Given the description of an element on the screen output the (x, y) to click on. 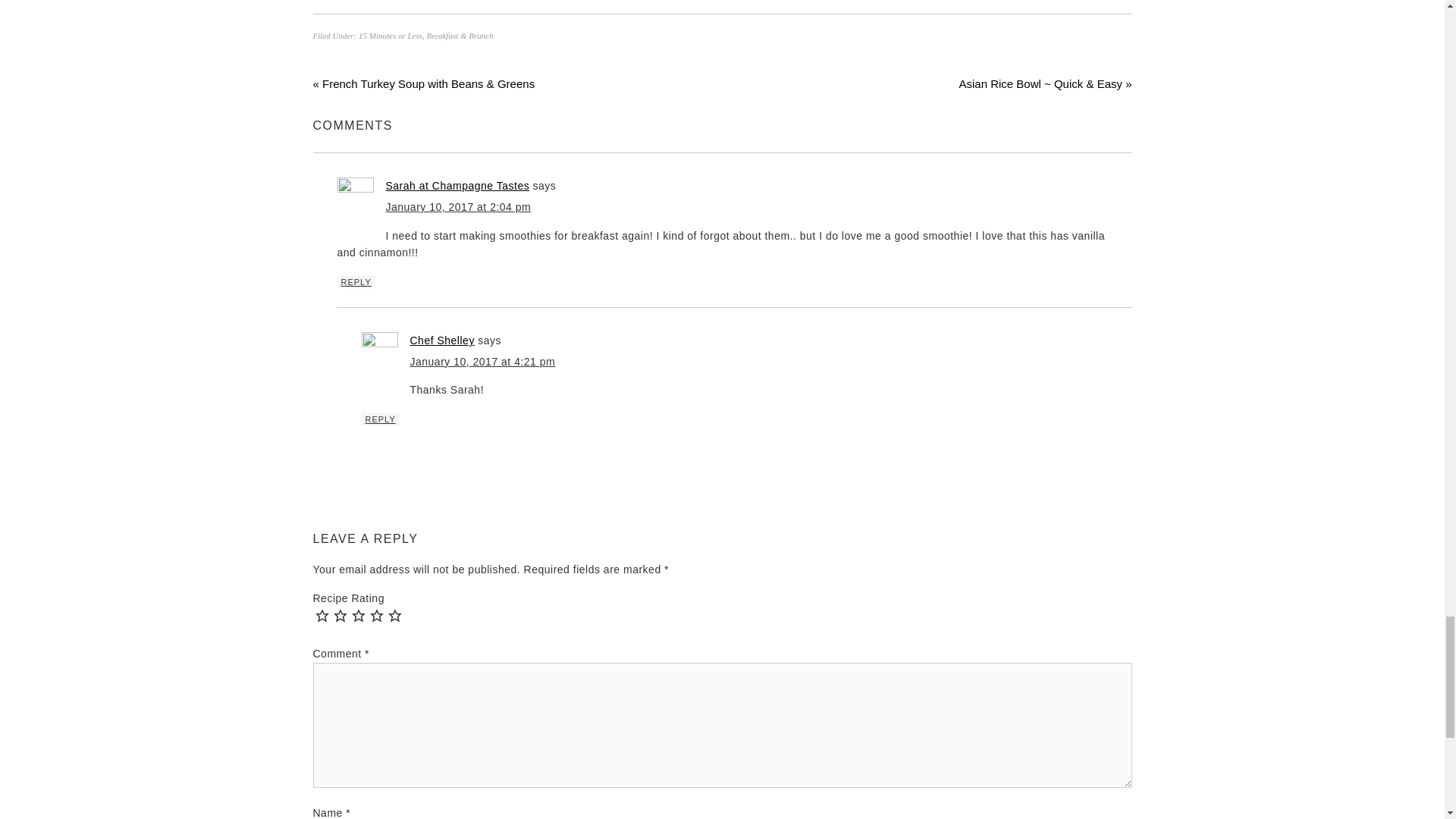
January 10, 2017 at 2:04 pm (458, 206)
More Options (794, 4)
January 10, 2017 at 4:21 pm (481, 361)
REPLY (355, 282)
Chef Shelley (441, 340)
Yummly (721, 4)
Facebook (648, 4)
Sarah at Champagne Tastes (457, 185)
Pinterest (684, 4)
Email This (757, 4)
